Given the description of an element on the screen output the (x, y) to click on. 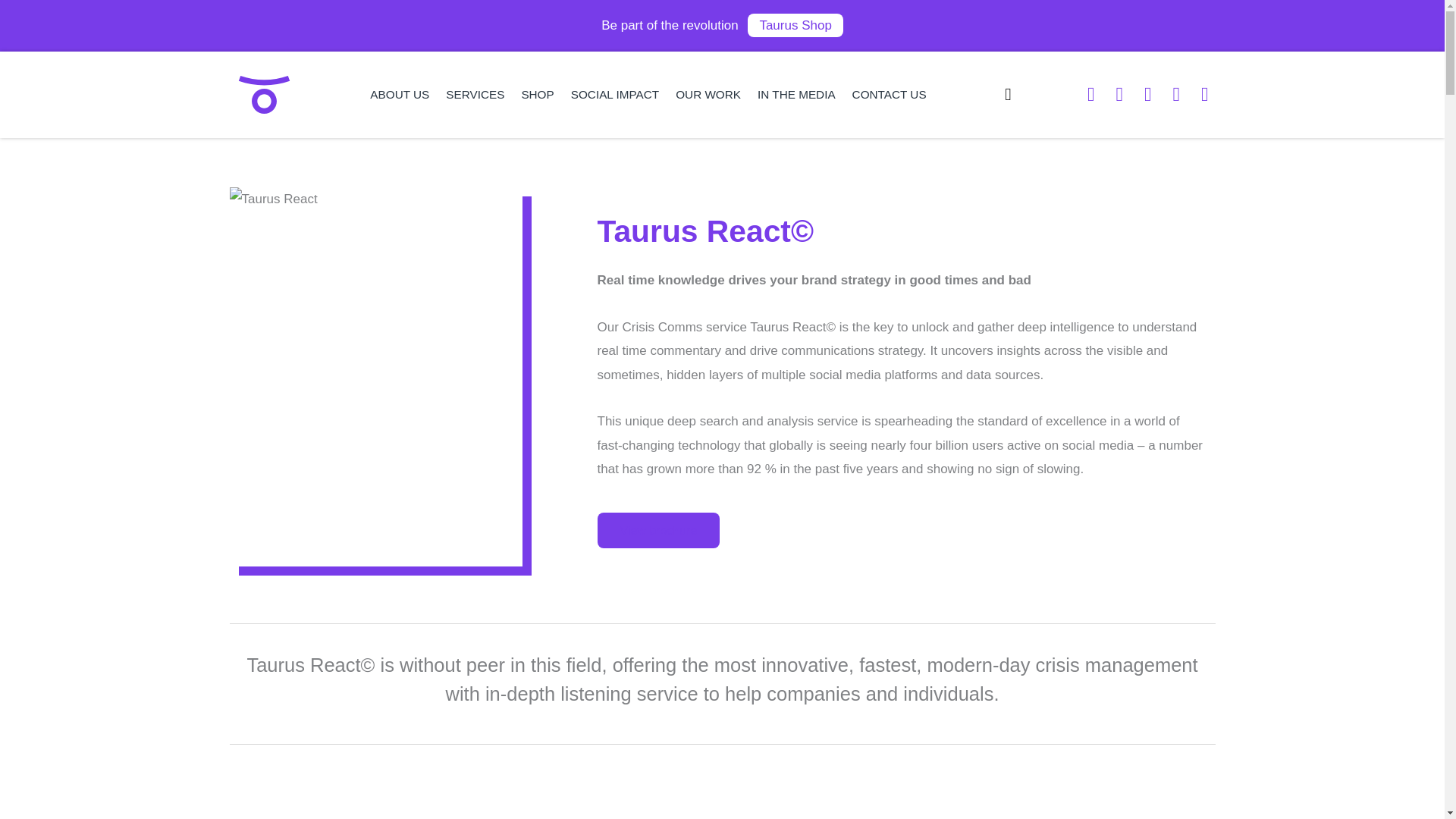
ABOUT US (399, 94)
SHOP (537, 94)
SOCIAL IMPACT (614, 94)
SERVICES (475, 94)
Taurus Shop (795, 24)
CONTACT US (889, 94)
OUR WORK (707, 94)
IN THE MEDIA (796, 94)
